Given the description of an element on the screen output the (x, y) to click on. 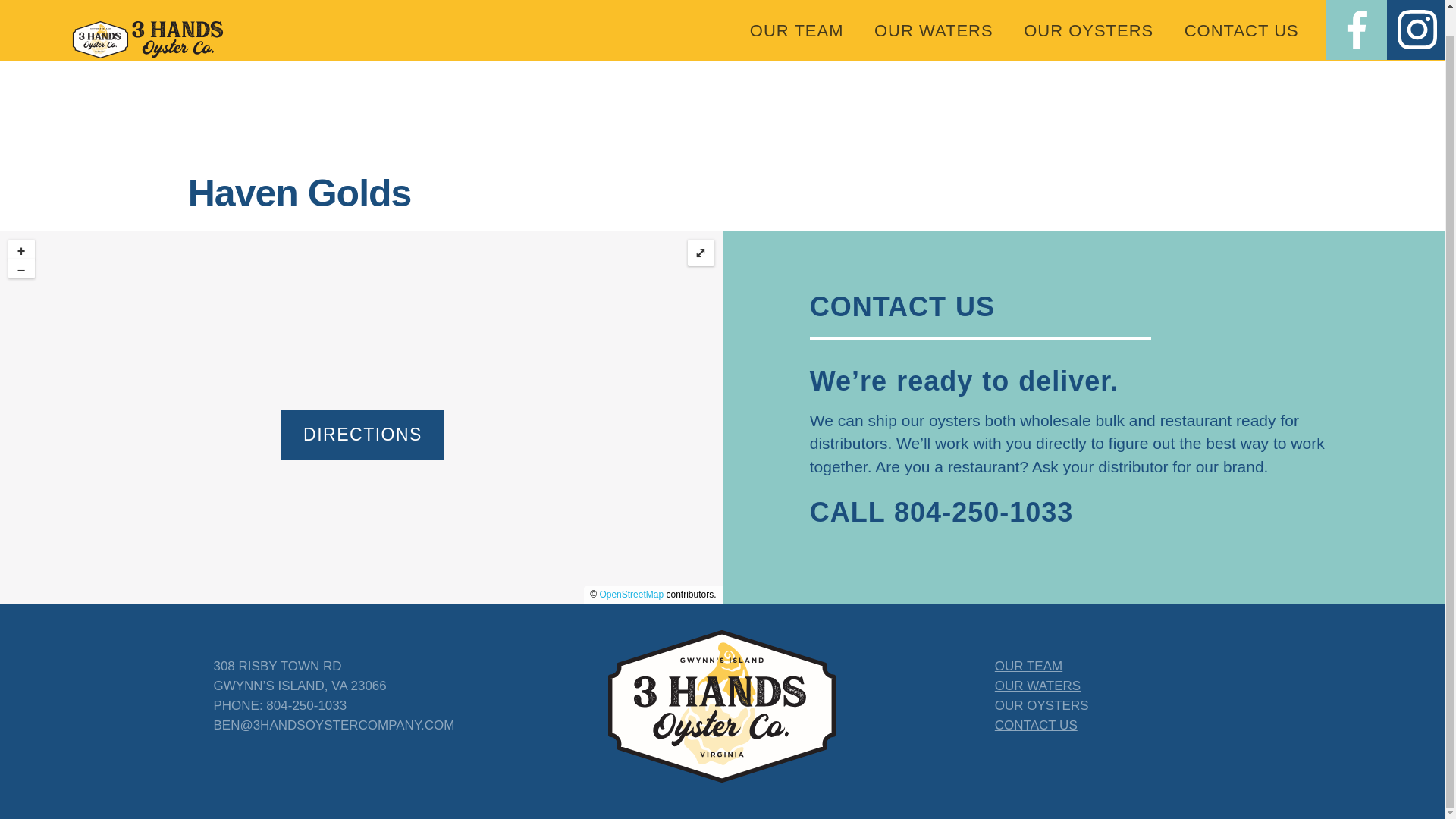
OpenStreetMap (630, 593)
Zoom in (21, 248)
OUR WATERS (933, 20)
CONTACT US (1035, 725)
PHONE: 804-250-1033 (279, 705)
OUR WATERS (1037, 685)
Toggle full-screen (700, 252)
Zoom out (21, 268)
CONTACT US (1241, 20)
Three Hands Oyster Company (147, 20)
